Given the description of an element on the screen output the (x, y) to click on. 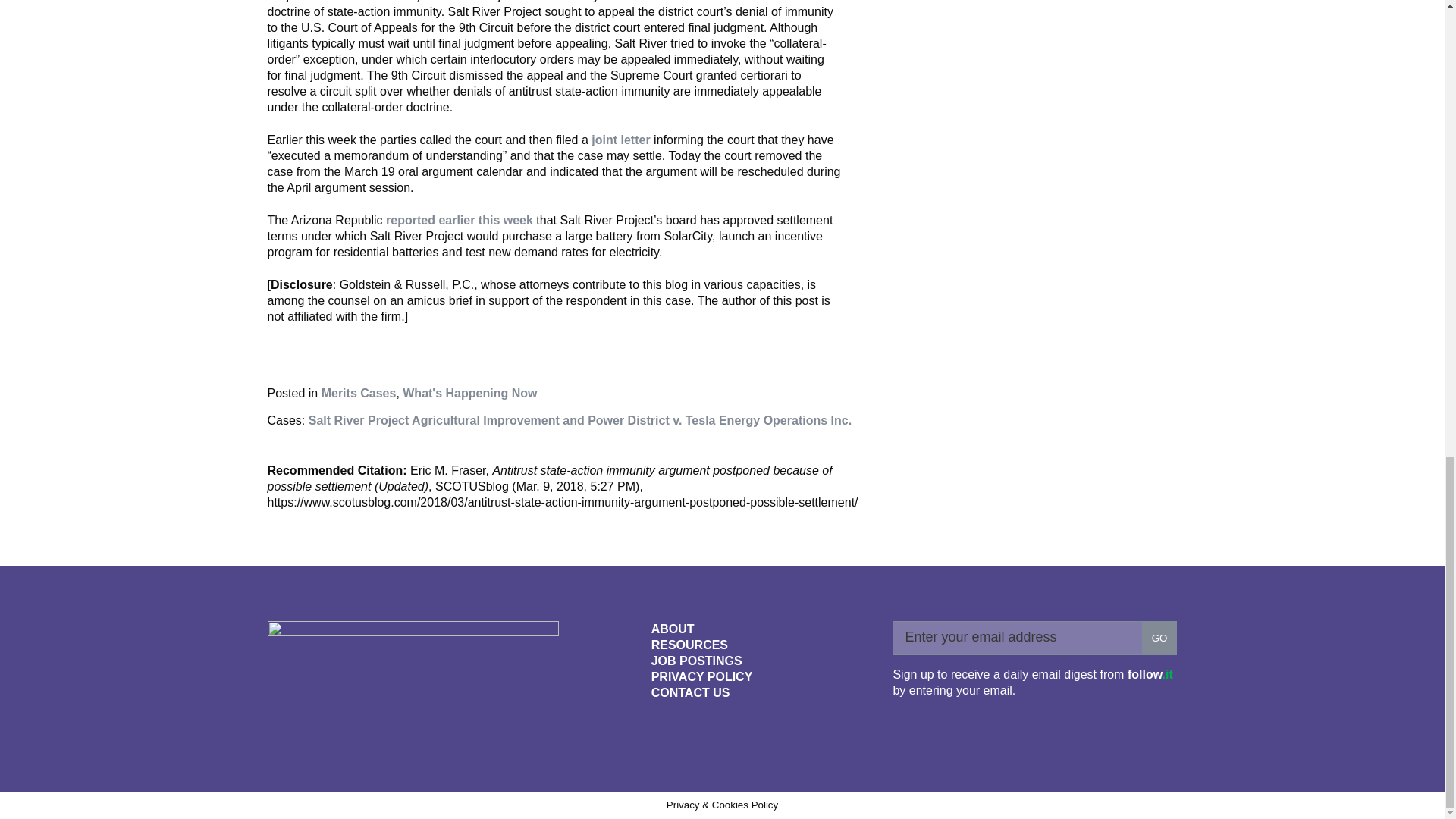
GO (1159, 637)
